Given the description of an element on the screen output the (x, y) to click on. 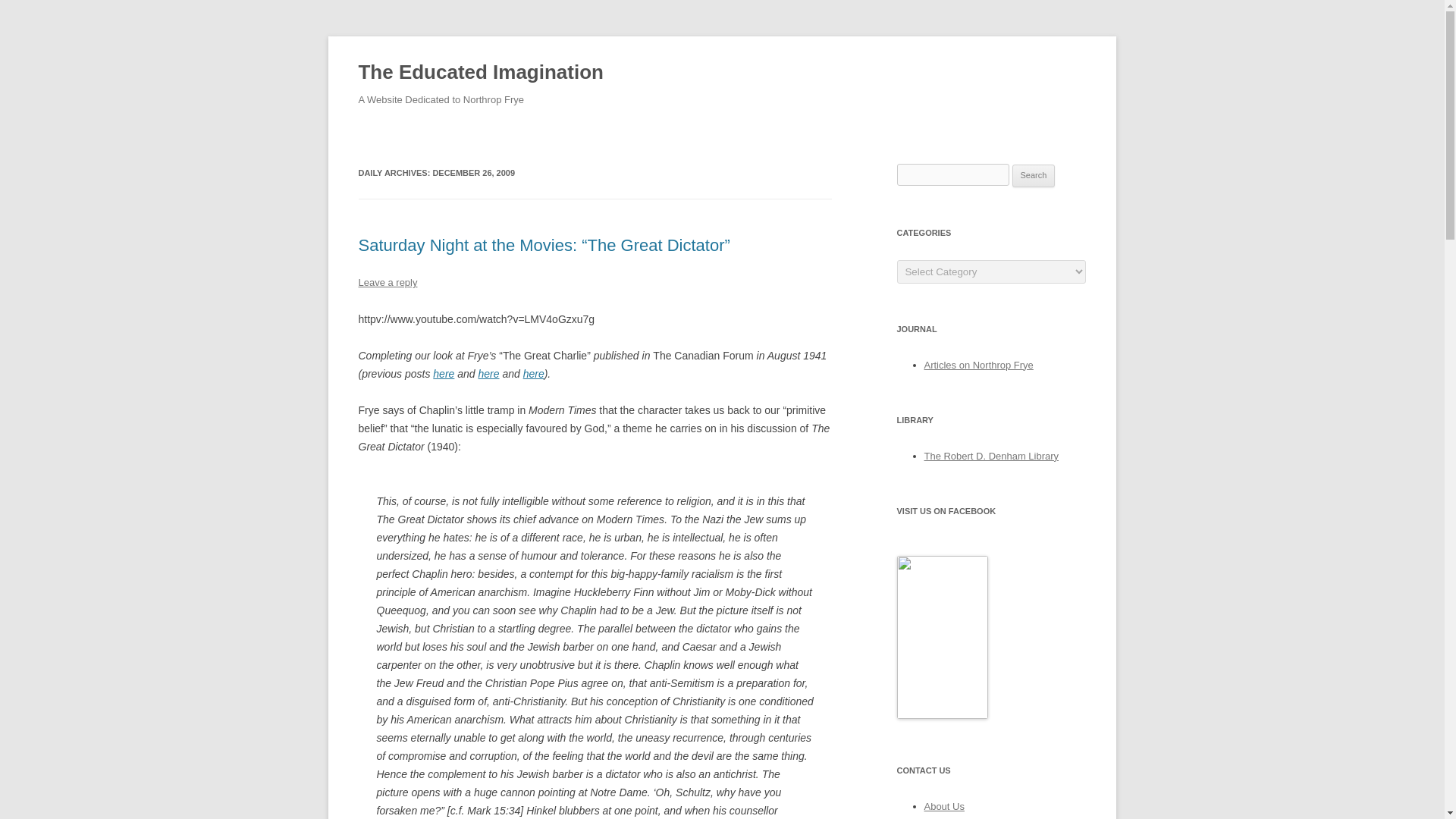
The Educated Imagination (480, 72)
Northrop Frye Blog (941, 715)
Search (1033, 175)
Leave a reply (387, 282)
The Robert D. Denham Library (990, 455)
Articles on Northrop Frye (977, 365)
About Us (943, 806)
Search (1033, 175)
here (533, 373)
